Given the description of an element on the screen output the (x, y) to click on. 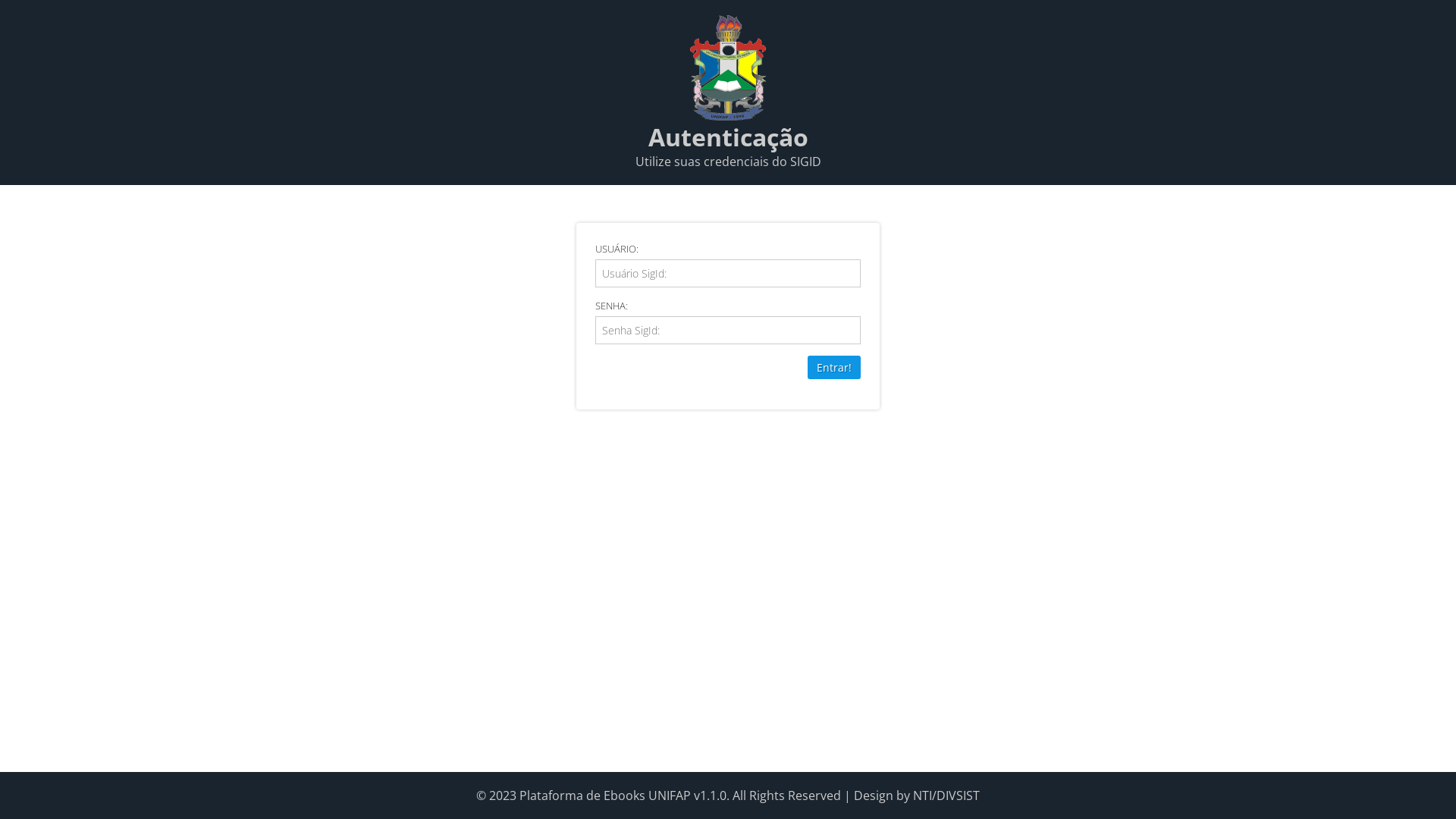
NTI/DIVSIST Element type: text (946, 795)
logo-unifap Element type: hover (727, 67)
Entrar! Element type: text (833, 367)
